Given the description of an element on the screen output the (x, y) to click on. 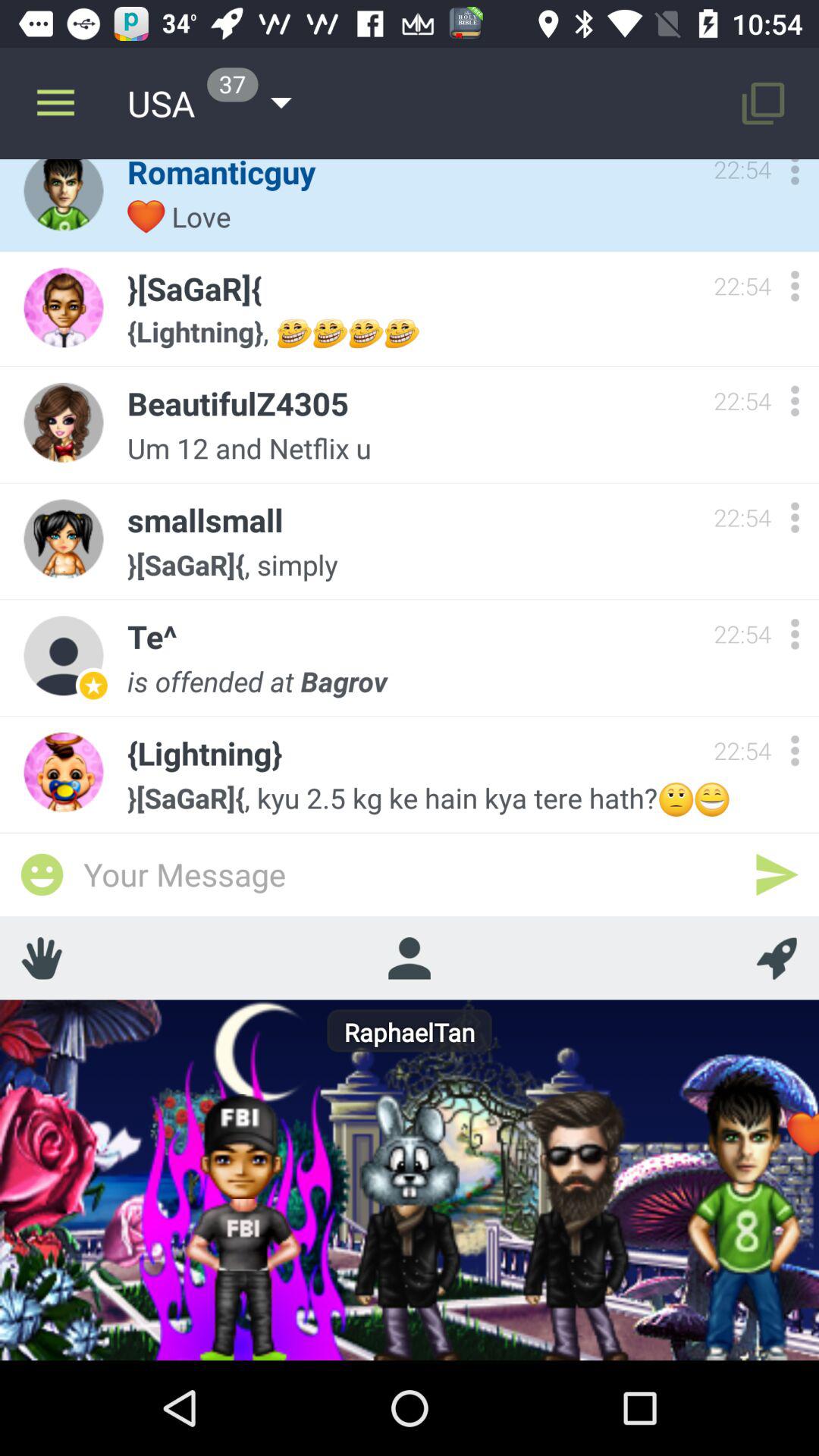
options for user account (795, 517)
